Given the description of an element on the screen output the (x, y) to click on. 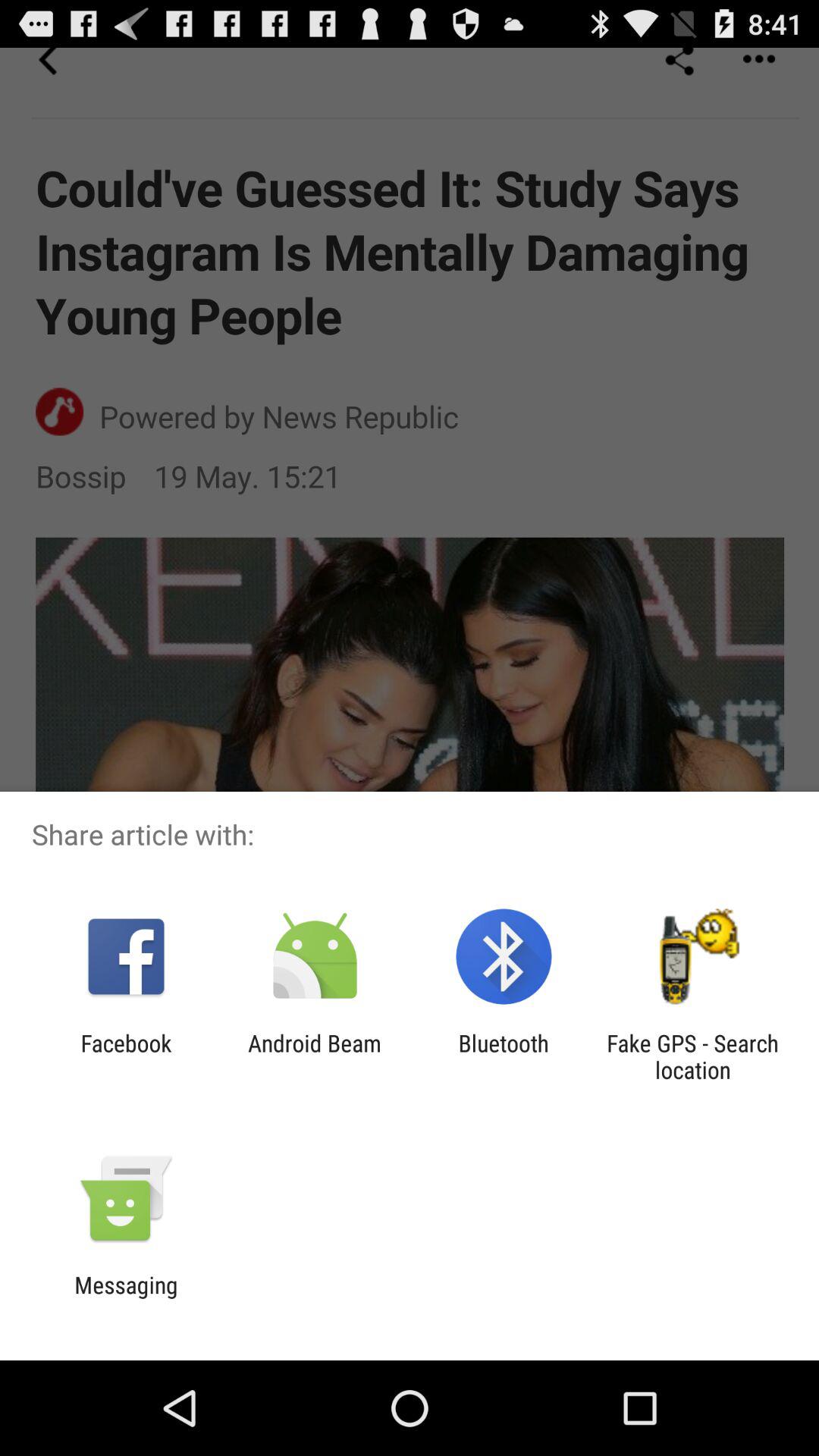
select app next to the facebook item (314, 1056)
